Given the description of an element on the screen output the (x, y) to click on. 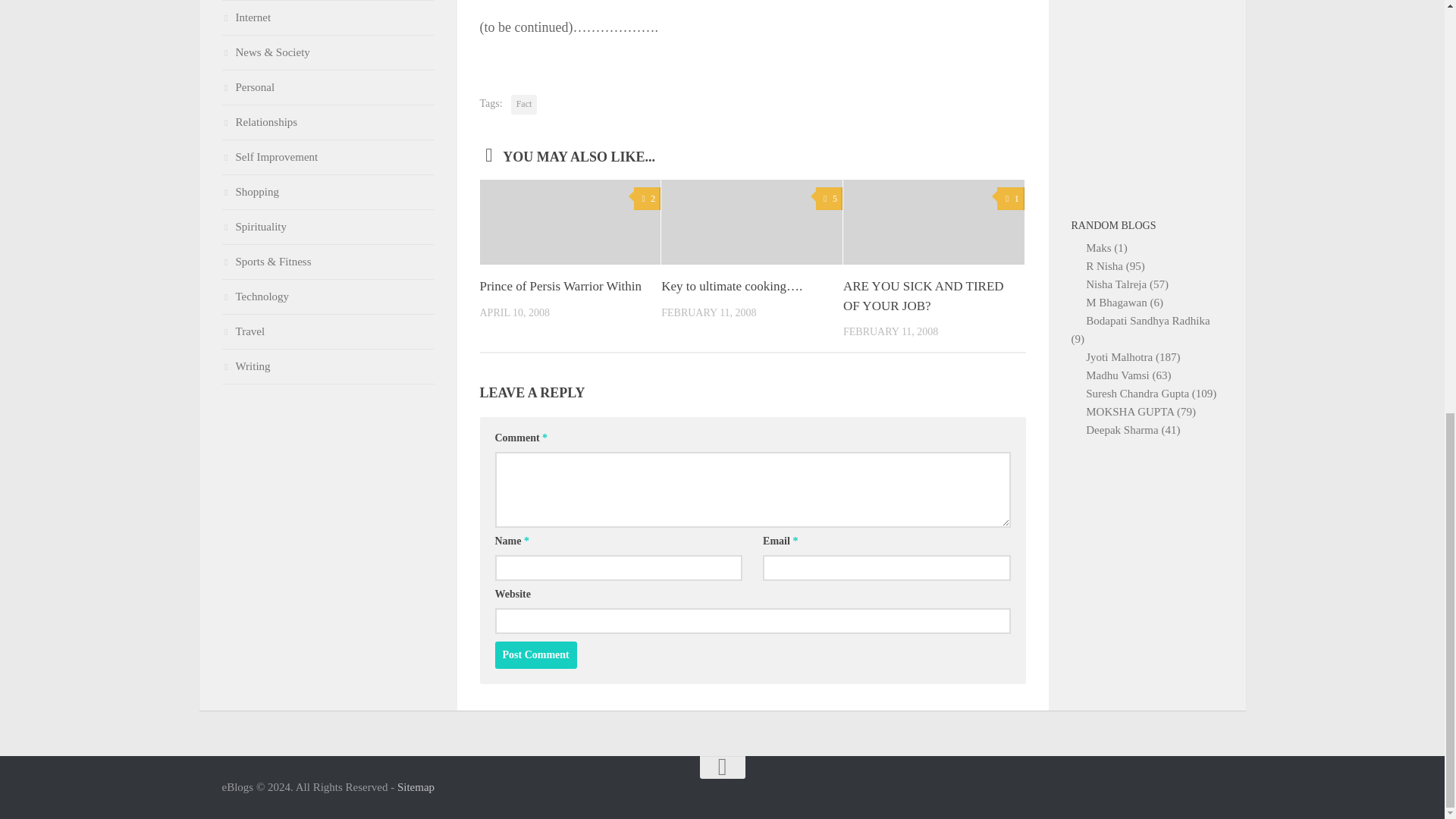
Posts by R Nisha (1105, 265)
1 (1010, 198)
Posts by Madhu Vamsi (1118, 375)
Posts by Maks  (1099, 247)
Posts by Jyoti Malhotra (1121, 357)
2 (647, 198)
Posts by M Bhagawan (1118, 302)
Prince of Persis Warrior Within (560, 286)
Post Comment (535, 655)
Fact (524, 104)
5 (829, 198)
Posts by Bodapati Sandhya Radhika (1147, 320)
Post Comment (535, 655)
ARE YOU SICK AND TIRED OF YOUR JOB? (923, 295)
Posts by Nisha Talreja (1118, 284)
